Given the description of an element on the screen output the (x, y) to click on. 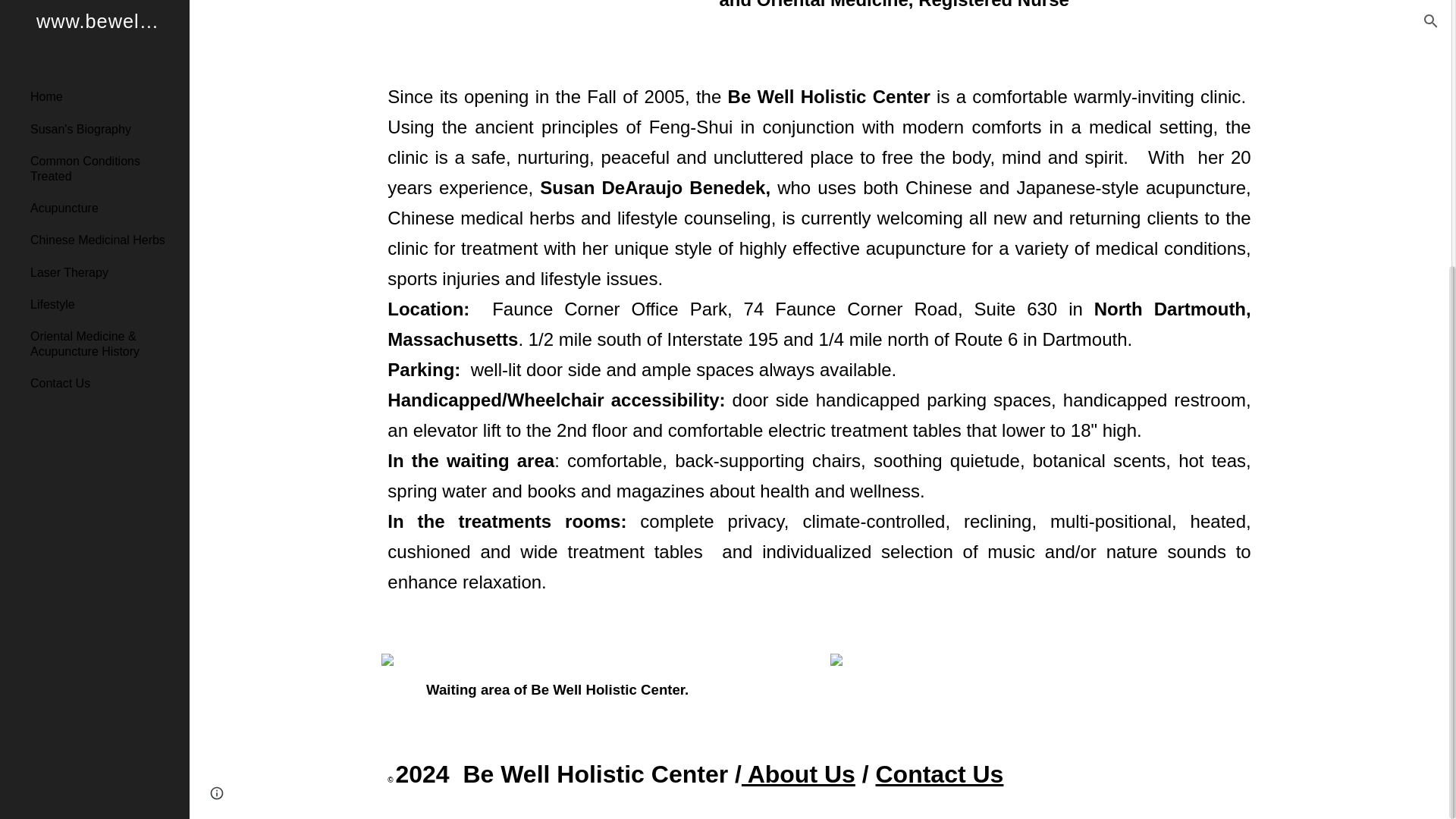
Contact Us (103, 2)
About Us (798, 778)
Contact Us (936, 778)
